Given the description of an element on the screen output the (x, y) to click on. 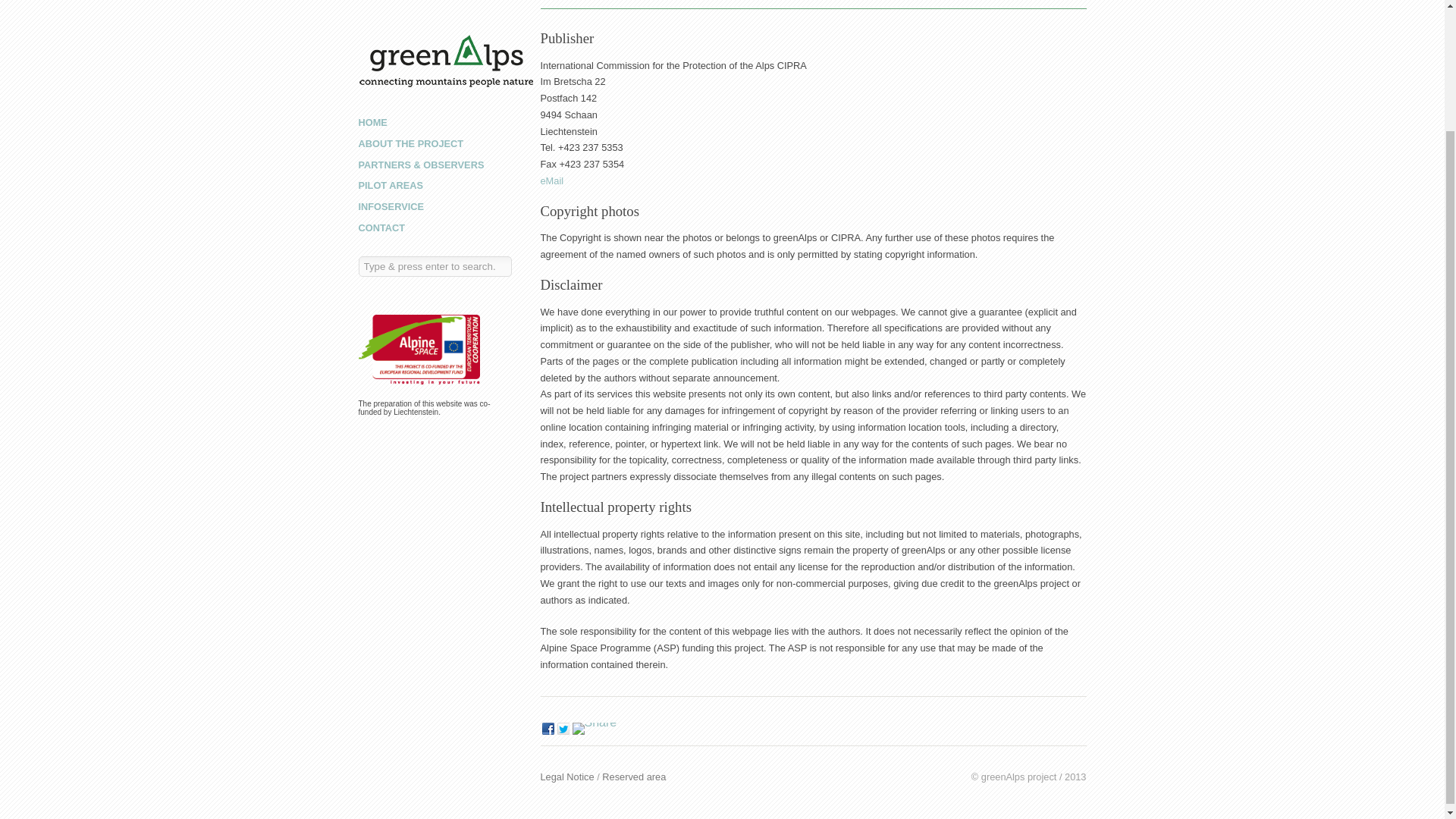
eMail (551, 180)
Legal Notice (567, 776)
Reserved area (633, 776)
CONTACT (381, 80)
INFOSERVICE (390, 59)
PILOT AREAS (390, 38)
ABOUT THE PROJECT (410, 1)
